Given the description of an element on the screen output the (x, y) to click on. 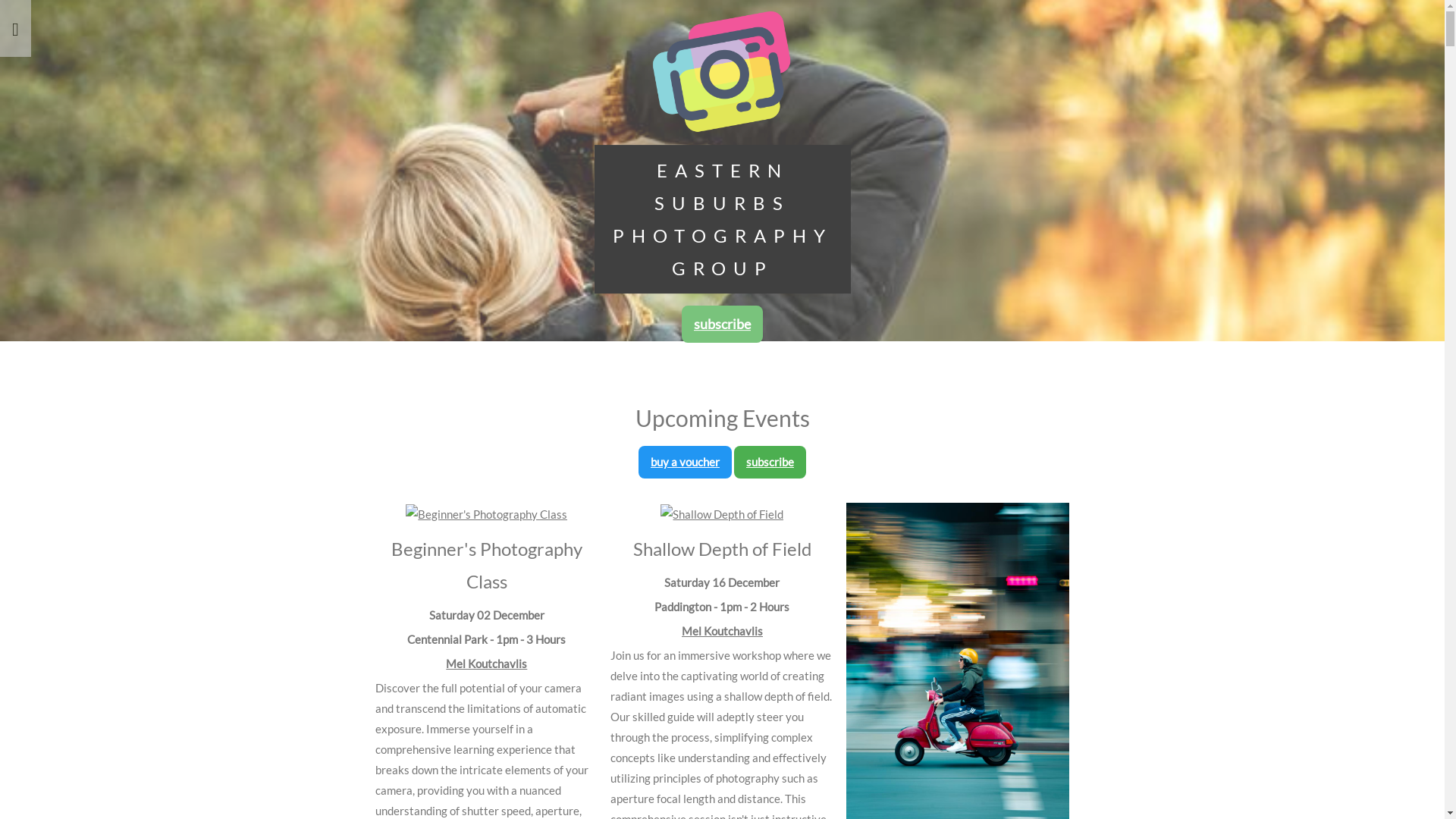
buy a voucher Element type: text (684, 461)
subscribe Element type: text (721, 323)
Mel Koutchavlis Element type: text (486, 663)
Mel Koutchavlis Element type: text (721, 630)
subscribe Element type: text (769, 461)
